Given the description of an element on the screen output the (x, y) to click on. 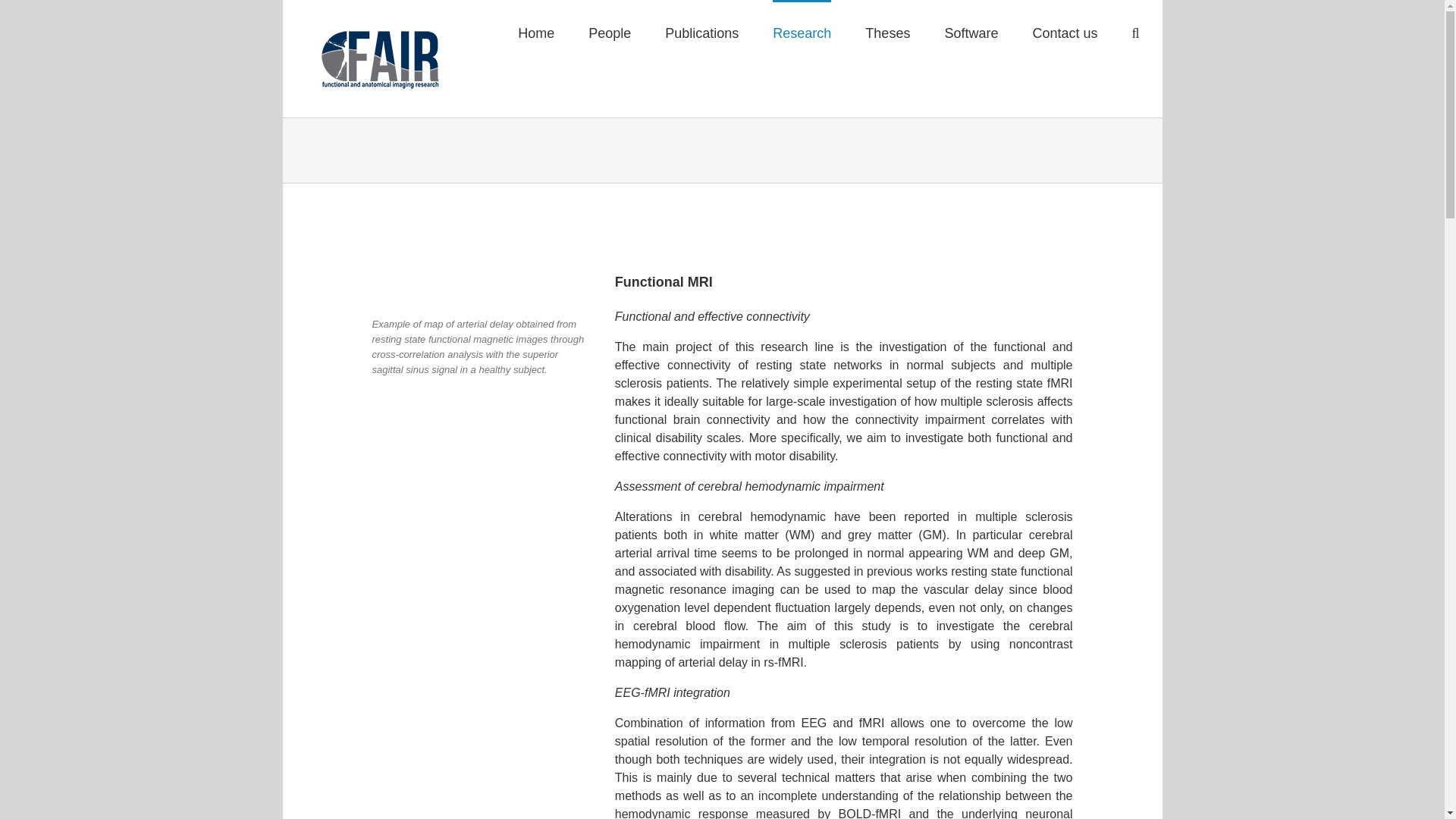
Publications (701, 32)
Contact us (1064, 32)
Research (802, 32)
